Given the description of an element on the screen output the (x, y) to click on. 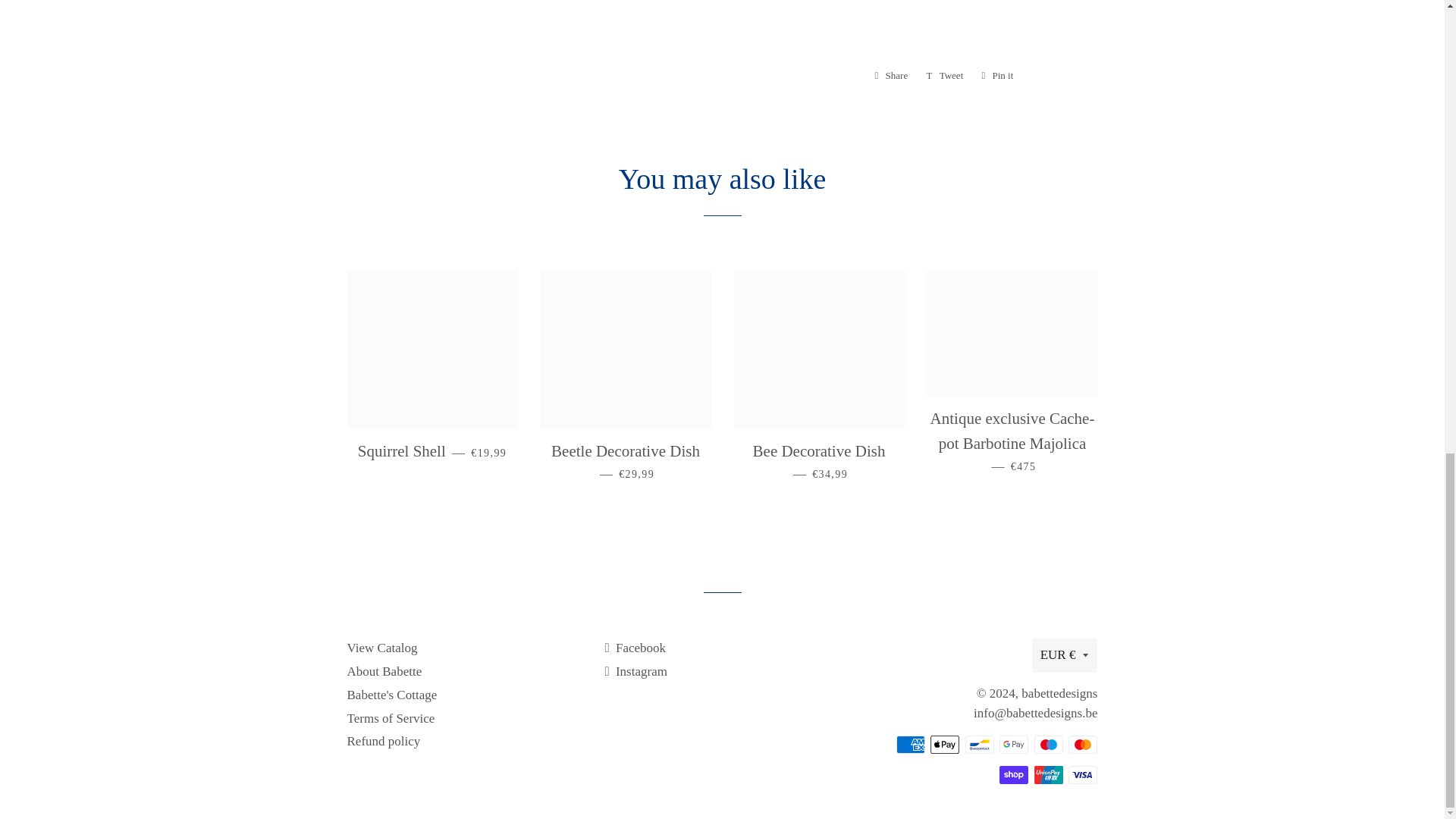
babettedesigns on Facebook (634, 647)
Share on Facebook (997, 75)
Bancontact (891, 75)
American Express (979, 744)
Mastercard (910, 744)
Apple Pay (1082, 744)
Shop Pay (944, 744)
Maestro (1012, 774)
